Given the description of an element on the screen output the (x, y) to click on. 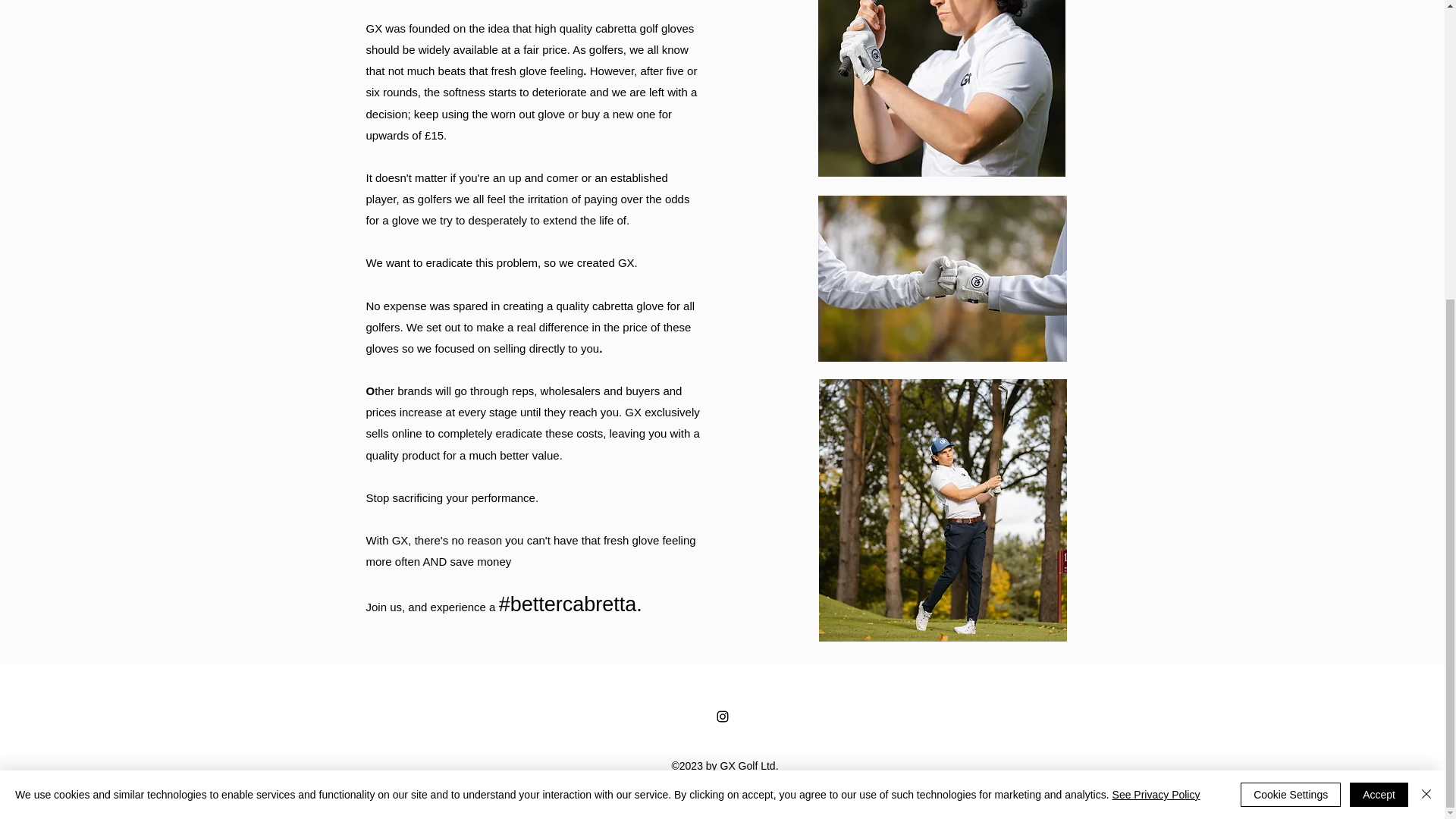
Cookie Settings (1290, 329)
See Privacy Policy (1155, 329)
Privacy Policy (723, 802)
Accept (1378, 329)
